Given the description of an element on the screen output the (x, y) to click on. 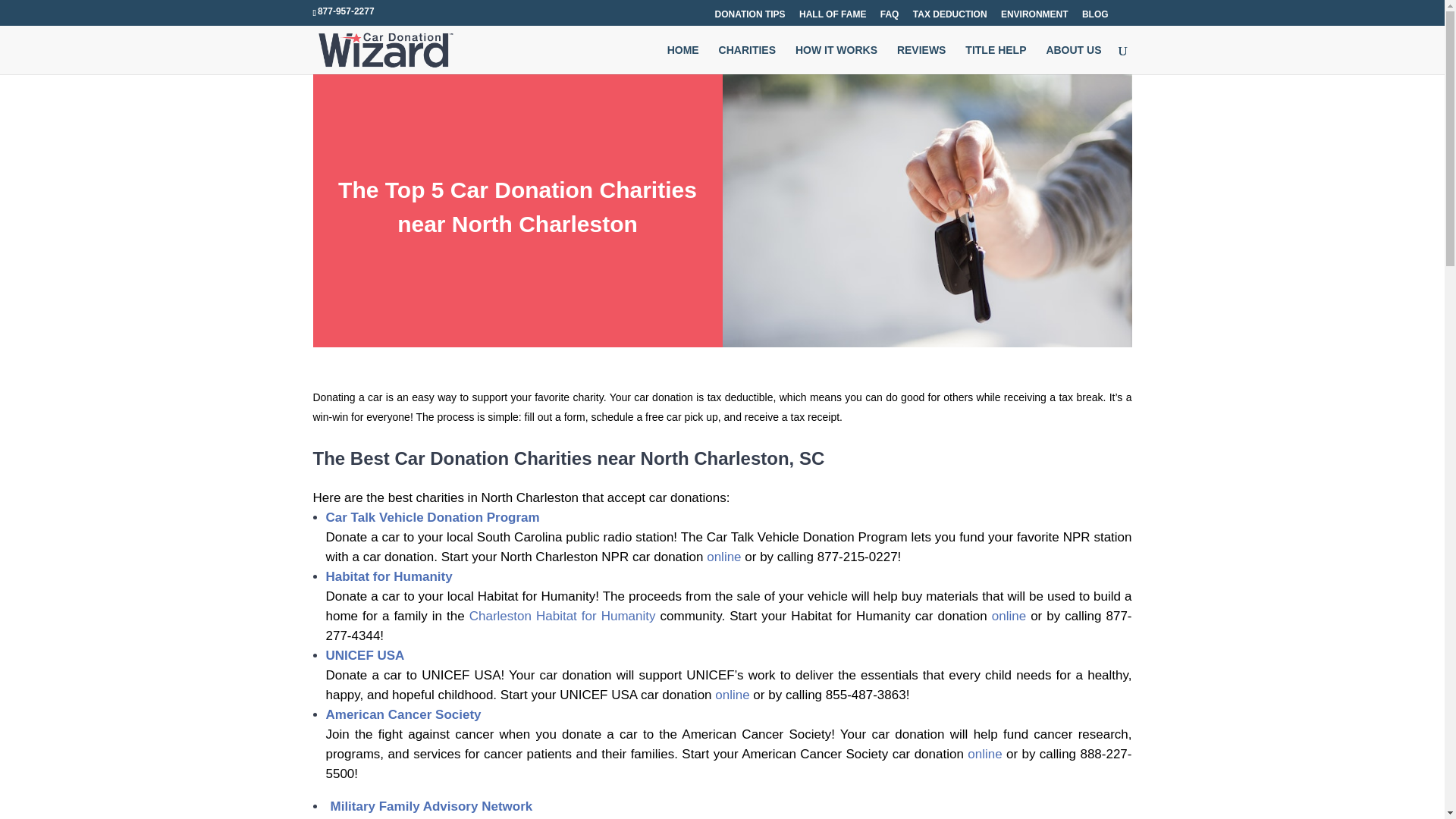
American Cancer Society (403, 714)
TAX DEDUCTION (949, 17)
ABOUT US (1072, 59)
HOME (682, 59)
online (731, 694)
Habitat for Humanity (389, 576)
DONATION TIPS (749, 17)
REVIEWS (921, 59)
BLOG (1094, 17)
TITLE HELP (995, 59)
UNICEF USA (365, 655)
Car Talk Vehicle Donation Program (433, 517)
online (984, 753)
pexels-negative-space-97079 (926, 210)
FAQ (889, 17)
